Given the description of an element on the screen output the (x, y) to click on. 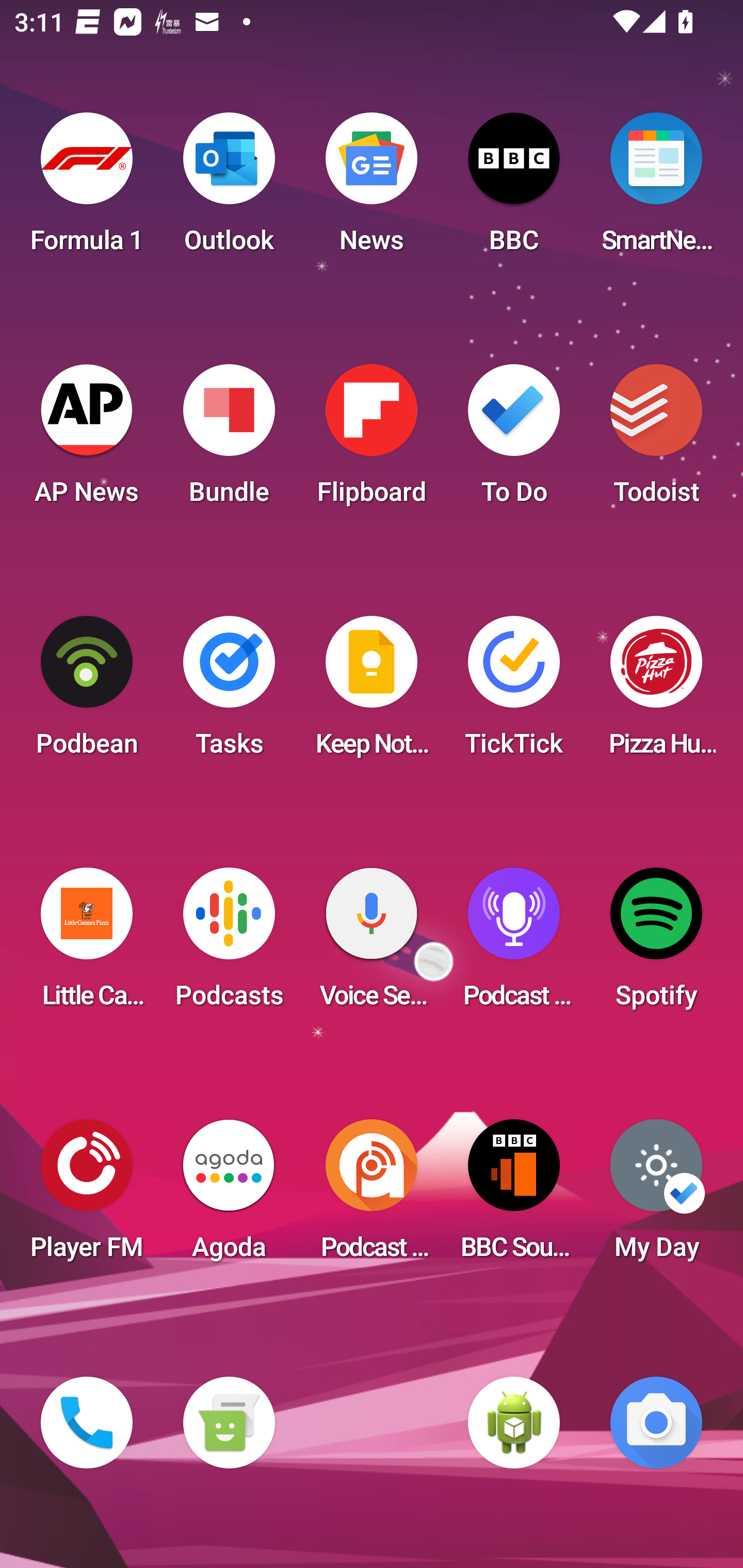
Formula 1 (86, 188)
Outlook (228, 188)
News (371, 188)
BBC (513, 188)
SmartNews (656, 188)
AP News (86, 440)
Bundle (228, 440)
Flipboard (371, 440)
To Do (513, 440)
Todoist (656, 440)
Podbean (86, 692)
Tasks (228, 692)
Keep Notes (371, 692)
TickTick (513, 692)
Pizza Hut HK & Macau (656, 692)
Little Caesars Pizza (86, 943)
Podcasts (228, 943)
Voice Search (371, 943)
Podcast Player (513, 943)
Spotify (656, 943)
Player FM (86, 1195)
Agoda (228, 1195)
Podcast Addict (371, 1195)
BBC Sounds (513, 1195)
My Day (656, 1195)
Phone (86, 1422)
Messaging (228, 1422)
WebView Browser Tester (513, 1422)
Camera (656, 1422)
